Given the description of an element on the screen output the (x, y) to click on. 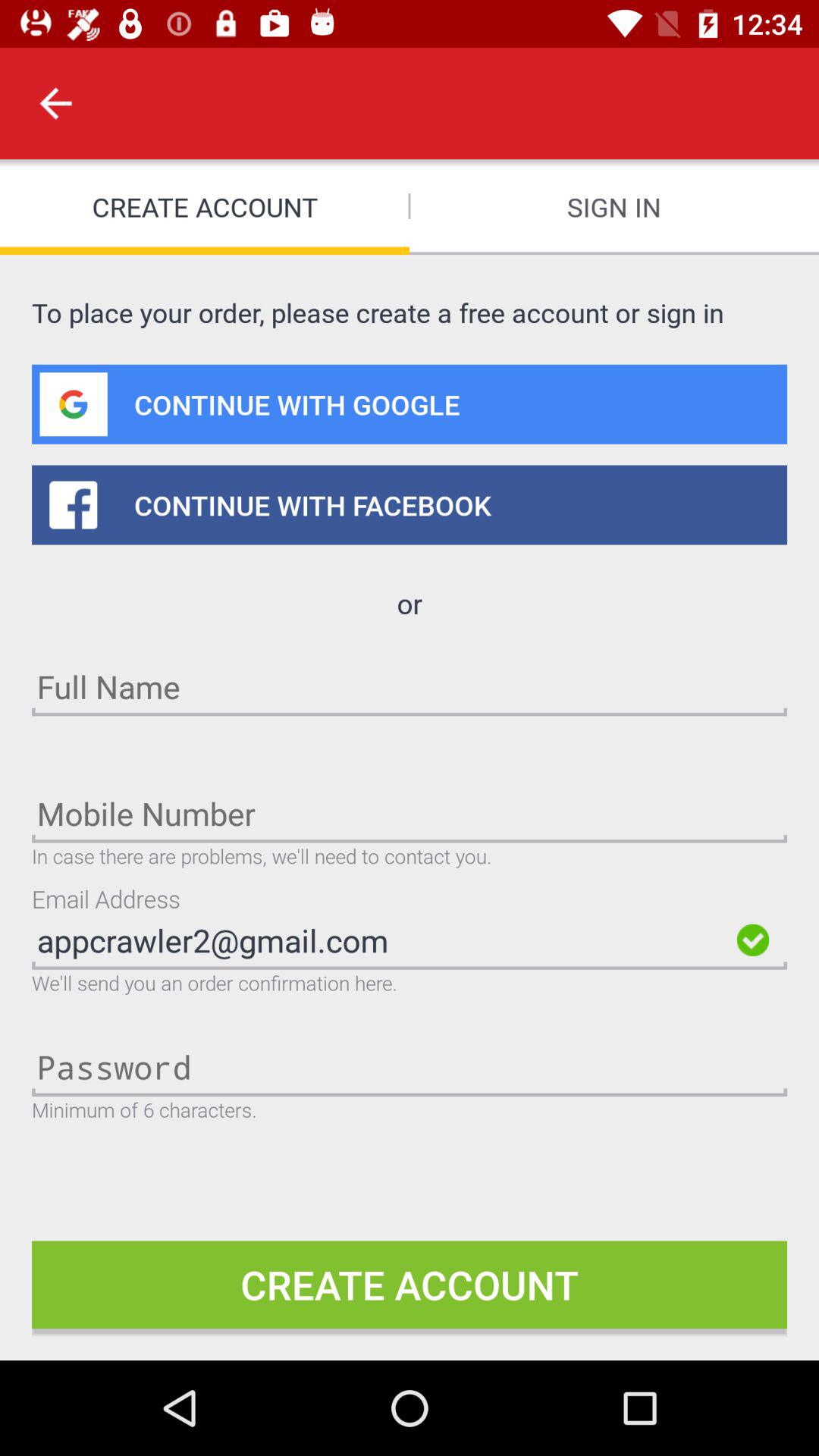
select the mobile number (409, 812)
